Given the description of an element on the screen output the (x, y) to click on. 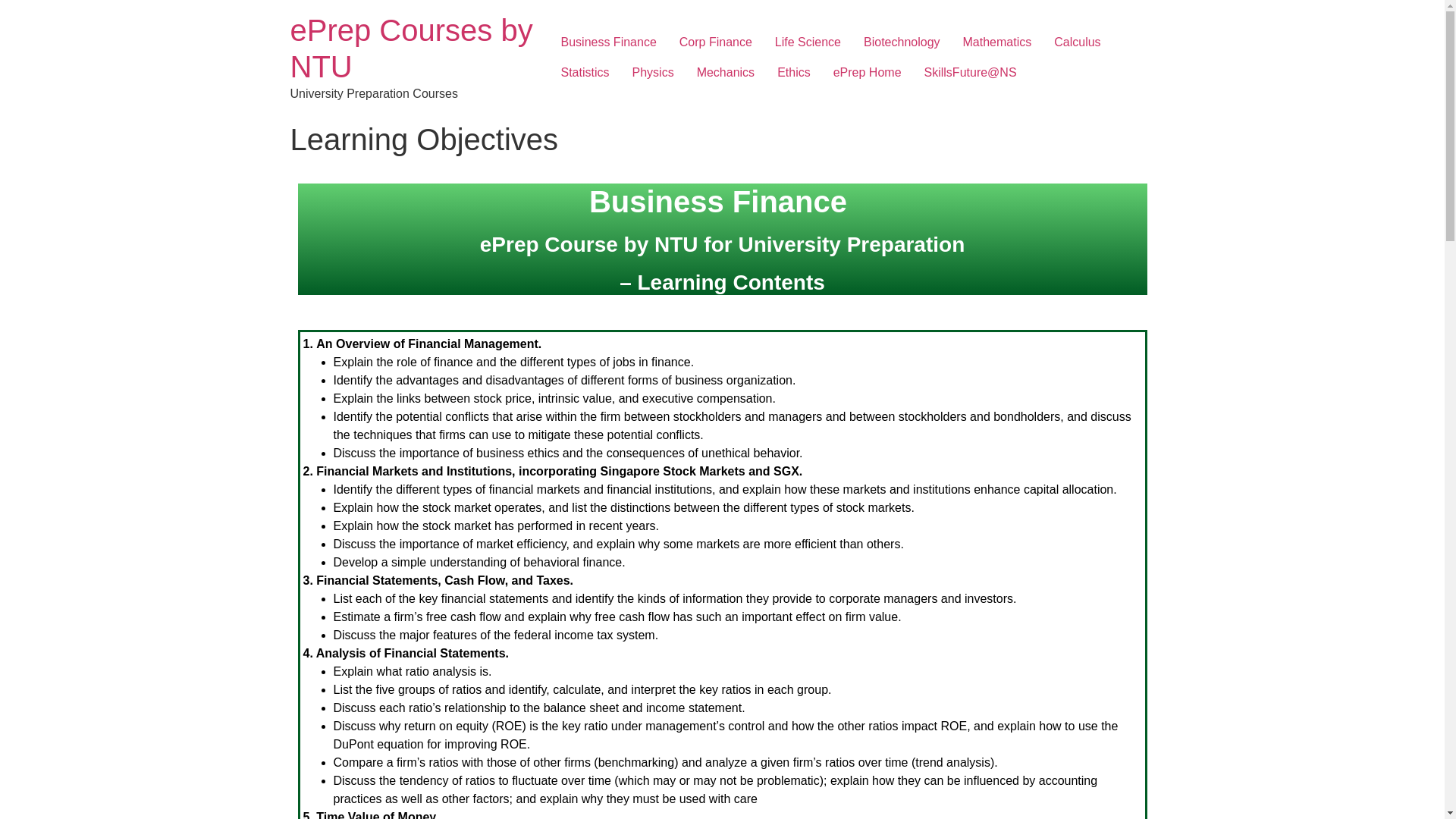
Business Finance (607, 42)
ePrep Courses by NTU (410, 48)
Home (410, 48)
Corp Finance (715, 42)
Statistics (584, 72)
ePrep Home (867, 72)
Mathematics (997, 42)
Calculus (1077, 42)
Biotechnology (901, 42)
Mechanics (725, 72)
Physics (653, 72)
Life Science (806, 42)
Ethics (793, 72)
